Given the description of an element on the screen output the (x, y) to click on. 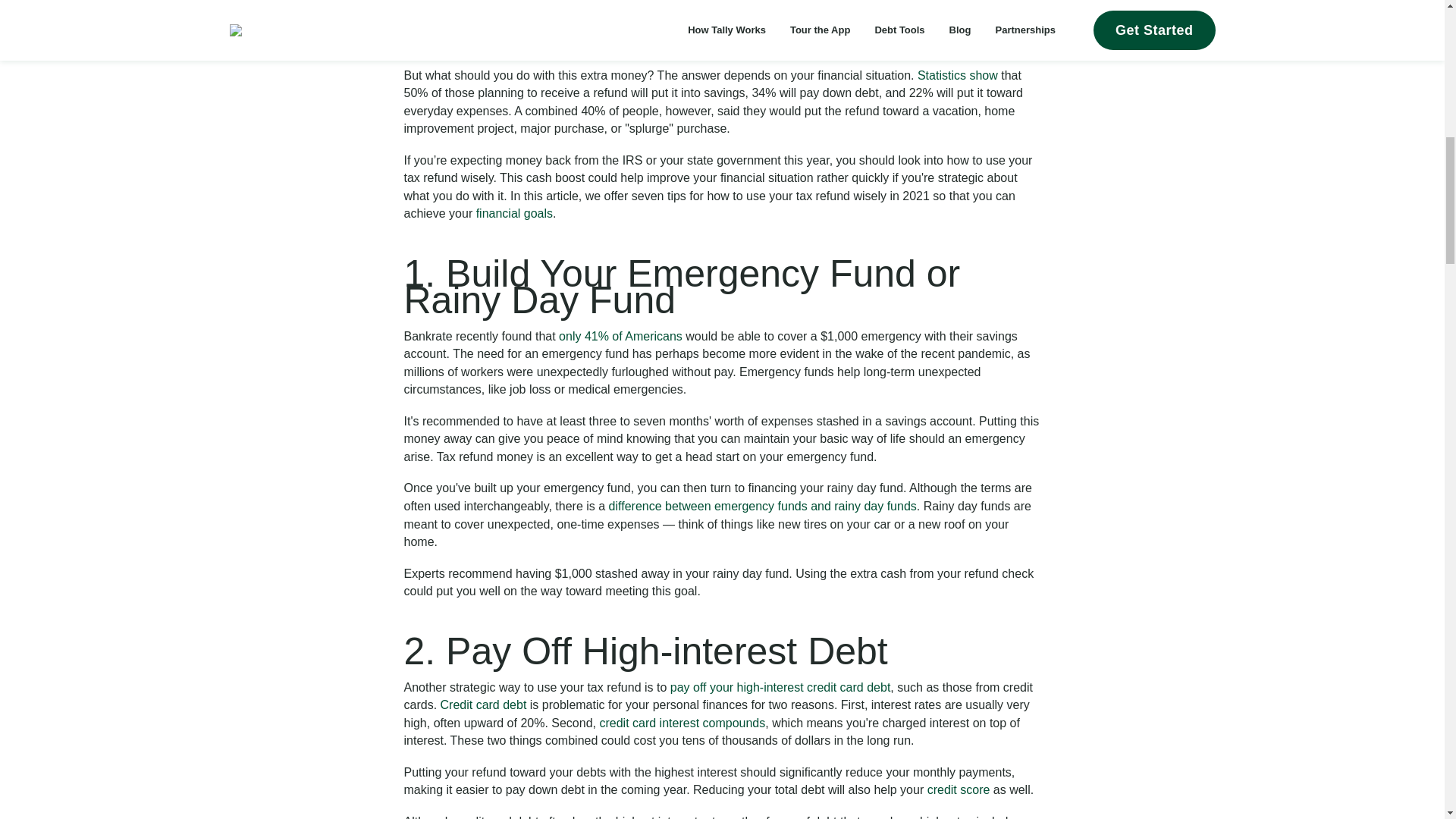
financial goals (514, 213)
difference between emergency funds and rainy day funds (762, 505)
Credit card debt (484, 704)
credit score (958, 789)
credit card interest compounds (680, 722)
pay off your high-interest credit card debt (780, 686)
expect to receive it within 42 days (832, 25)
tax season recently began (669, 7)
Statistics show (957, 74)
